Given the description of an element on the screen output the (x, y) to click on. 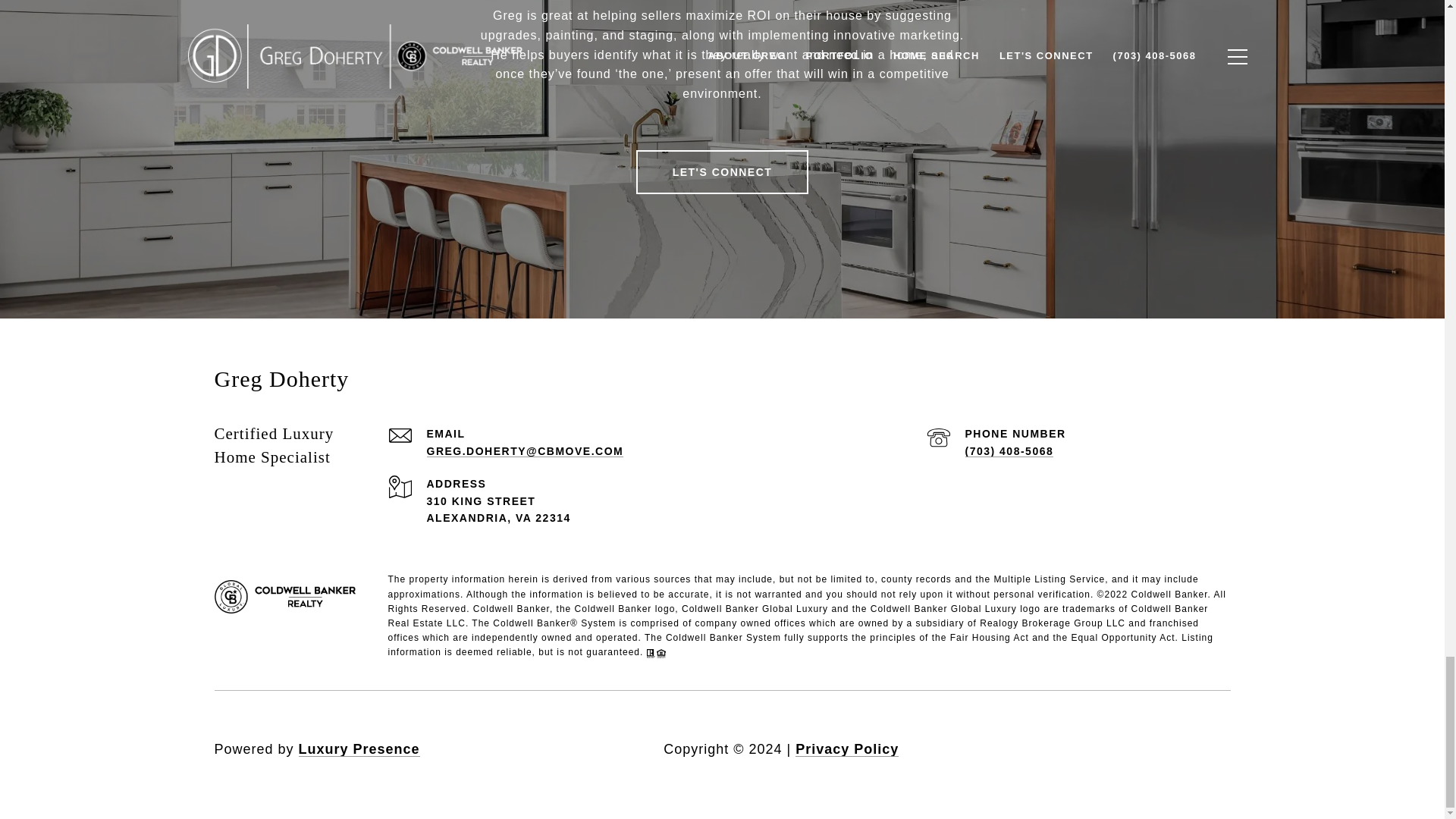
LET'S CONNECT (722, 171)
